Given the description of an element on the screen output the (x, y) to click on. 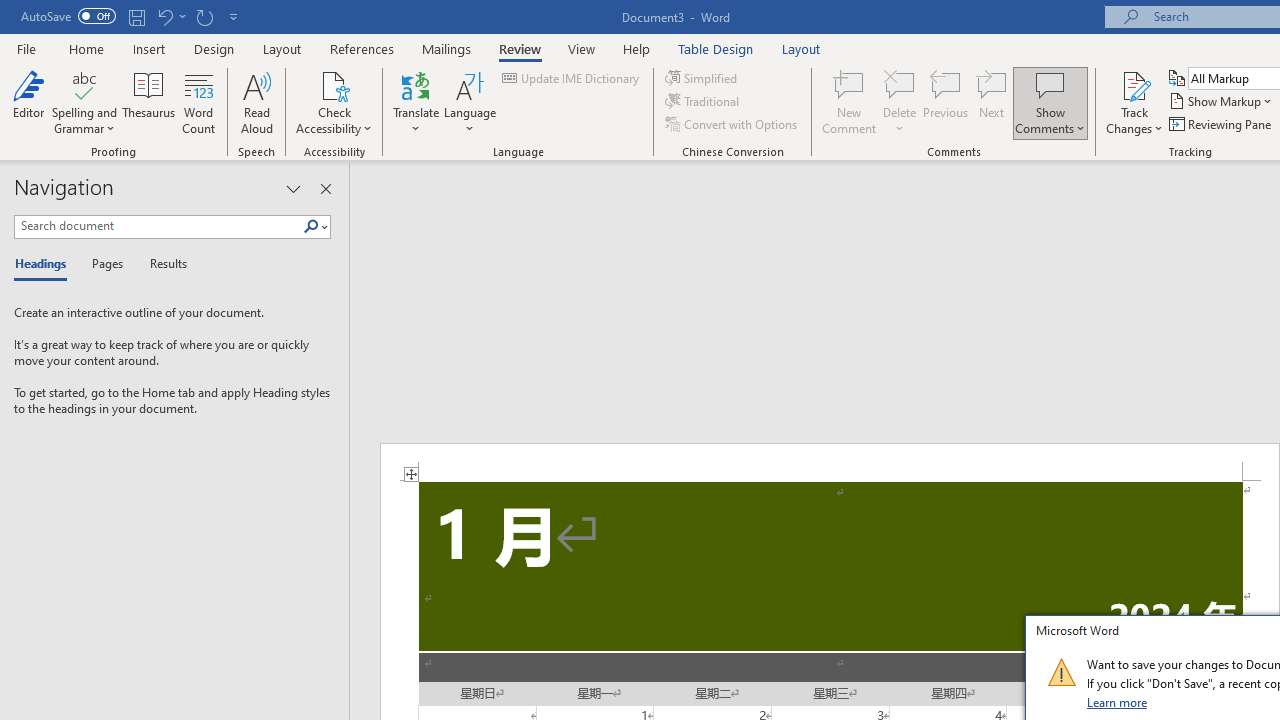
Spelling and Grammar (84, 102)
Read Aloud (256, 102)
Delete (900, 102)
Repeat Doc Close (204, 15)
Search document (157, 226)
Thesaurus... (148, 102)
Previous (946, 102)
Convert with Options... (732, 124)
Undo Increase Indent (170, 15)
Pages (105, 264)
